Given the description of an element on the screen output the (x, y) to click on. 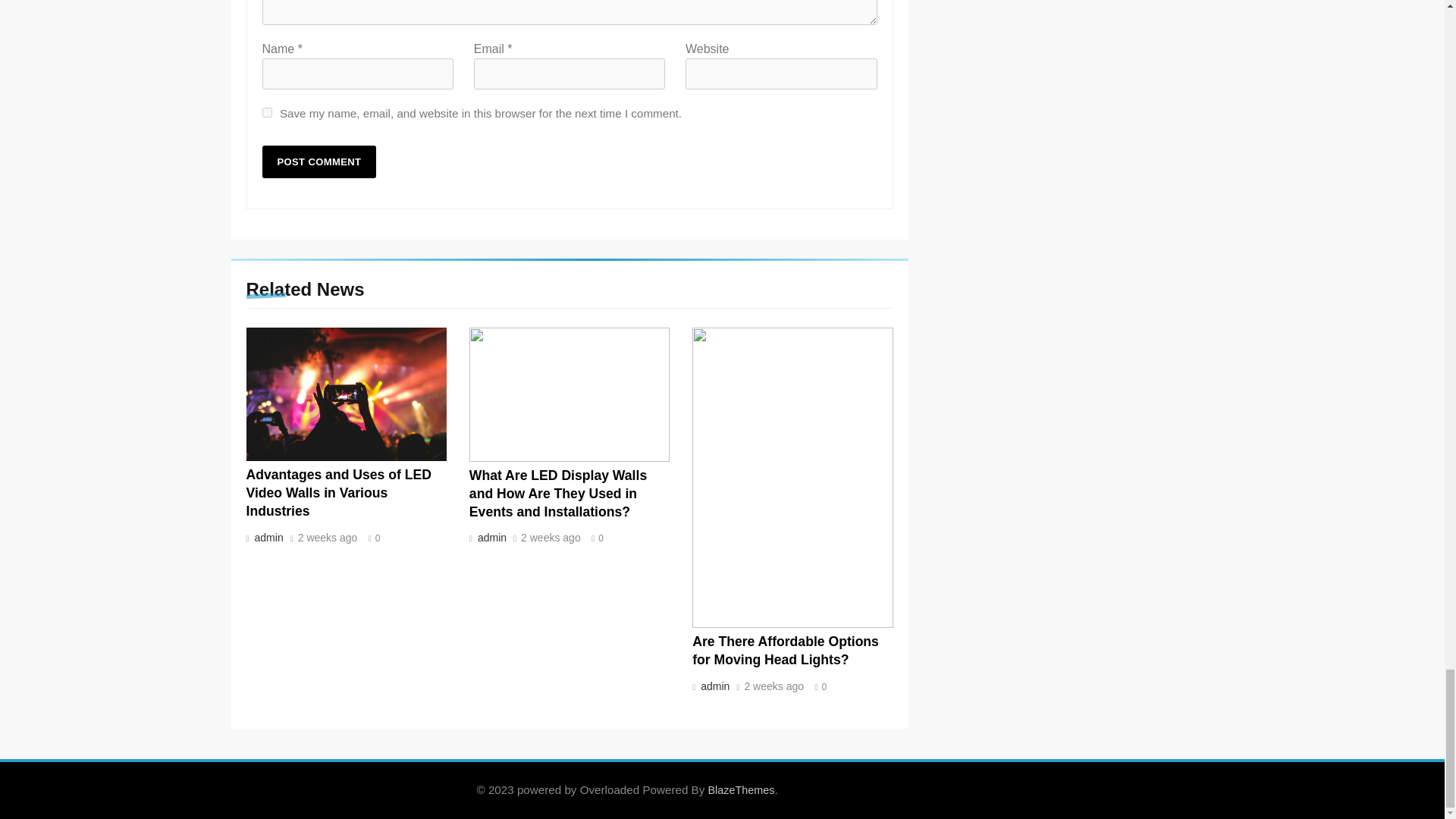
admin (267, 537)
yes (267, 112)
admin (490, 537)
2 weeks ago (328, 538)
Advantages and Uses of LED Video Walls in Various Industries (338, 492)
Post Comment (319, 161)
Are There Affordable Options for Moving Head Lights? (786, 650)
Post Comment (319, 161)
2 weeks ago (550, 538)
